Given the description of an element on the screen output the (x, y) to click on. 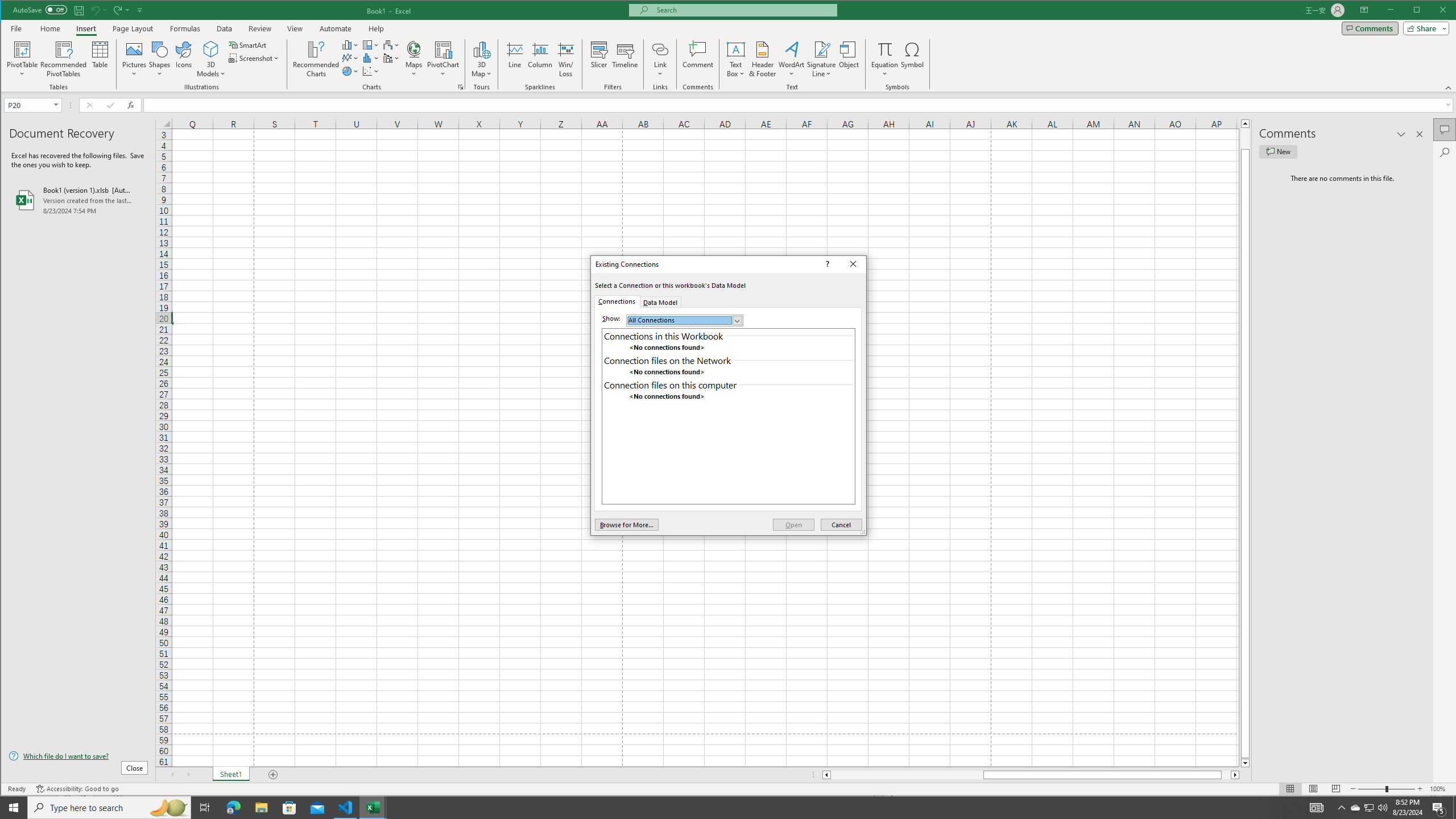
Notification Chevron (1341, 807)
Show (685, 320)
File Tab (16, 27)
Page right (1225, 774)
Normal (1290, 788)
Link (659, 59)
Comments (1369, 28)
Insert Combo Chart (391, 57)
Line up (1245, 122)
Draw Horizontal Text Box (735, 48)
Object... (848, 59)
SmartArt... (248, 44)
Column (540, 59)
Scroll Right (188, 774)
Task View (204, 807)
